Given the description of an element on the screen output the (x, y) to click on. 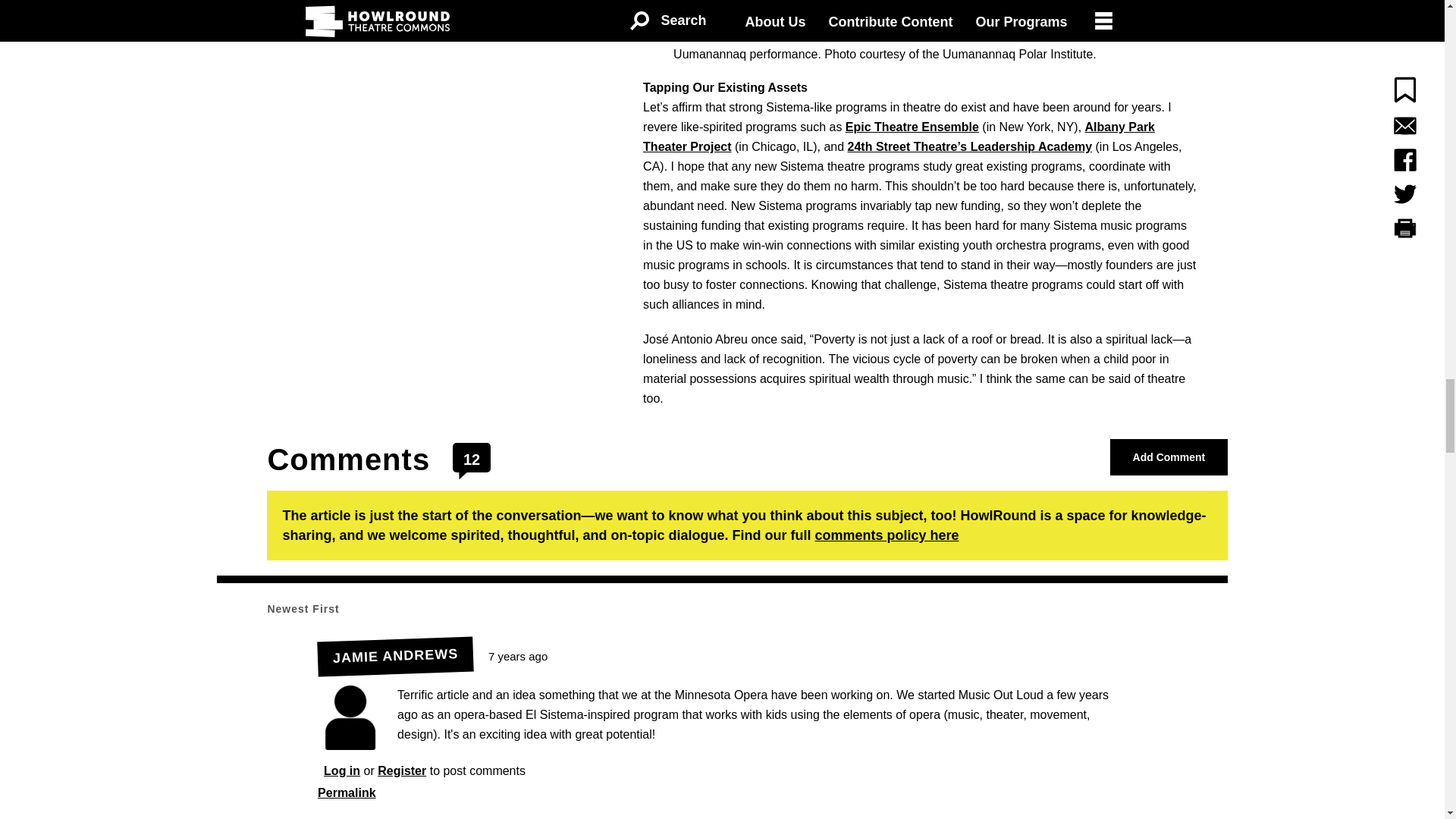
Epic Theatre Ensemble (911, 126)
